Given the description of an element on the screen output the (x, y) to click on. 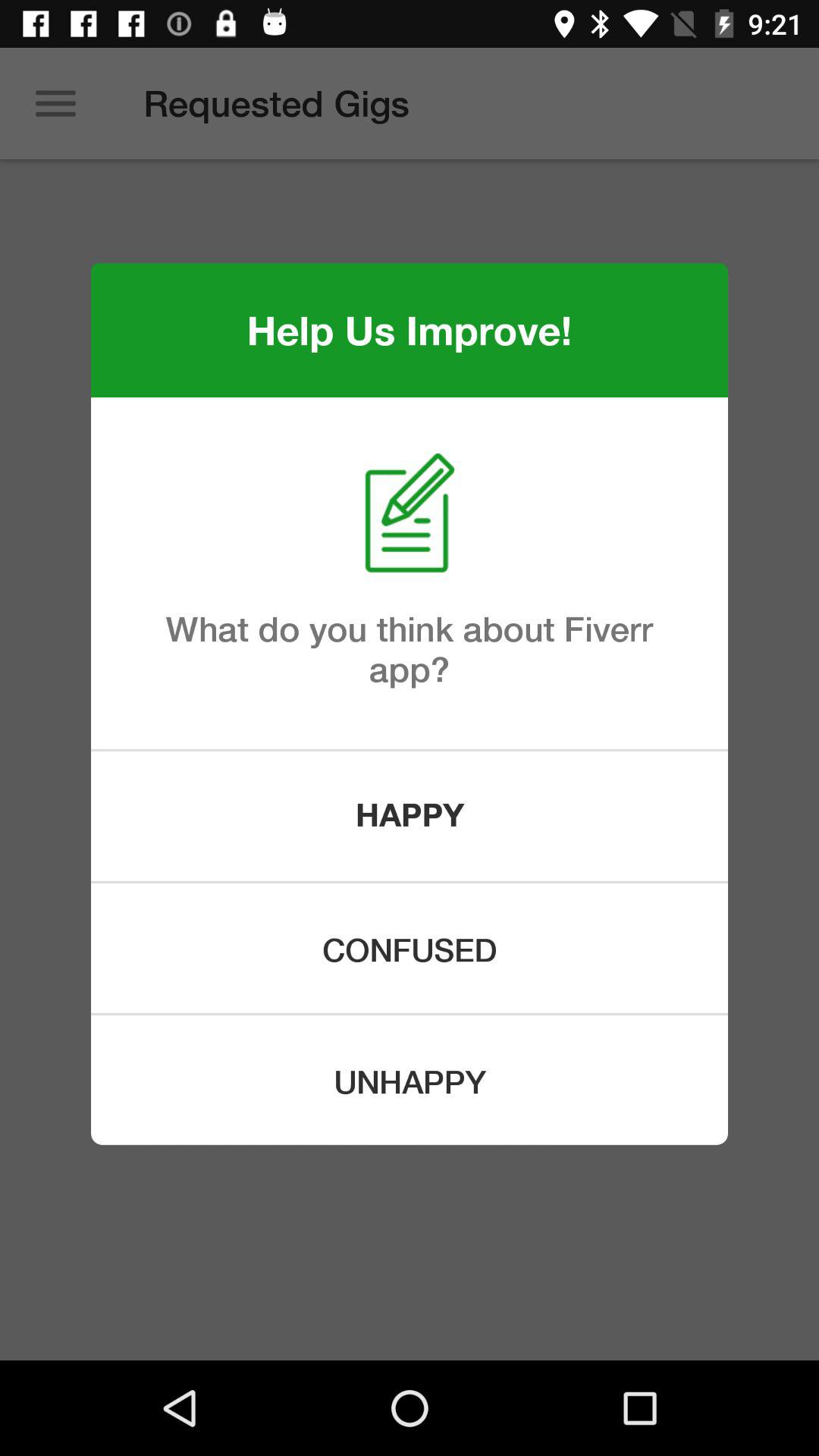
flip to the confused (409, 947)
